Given the description of an element on the screen output the (x, y) to click on. 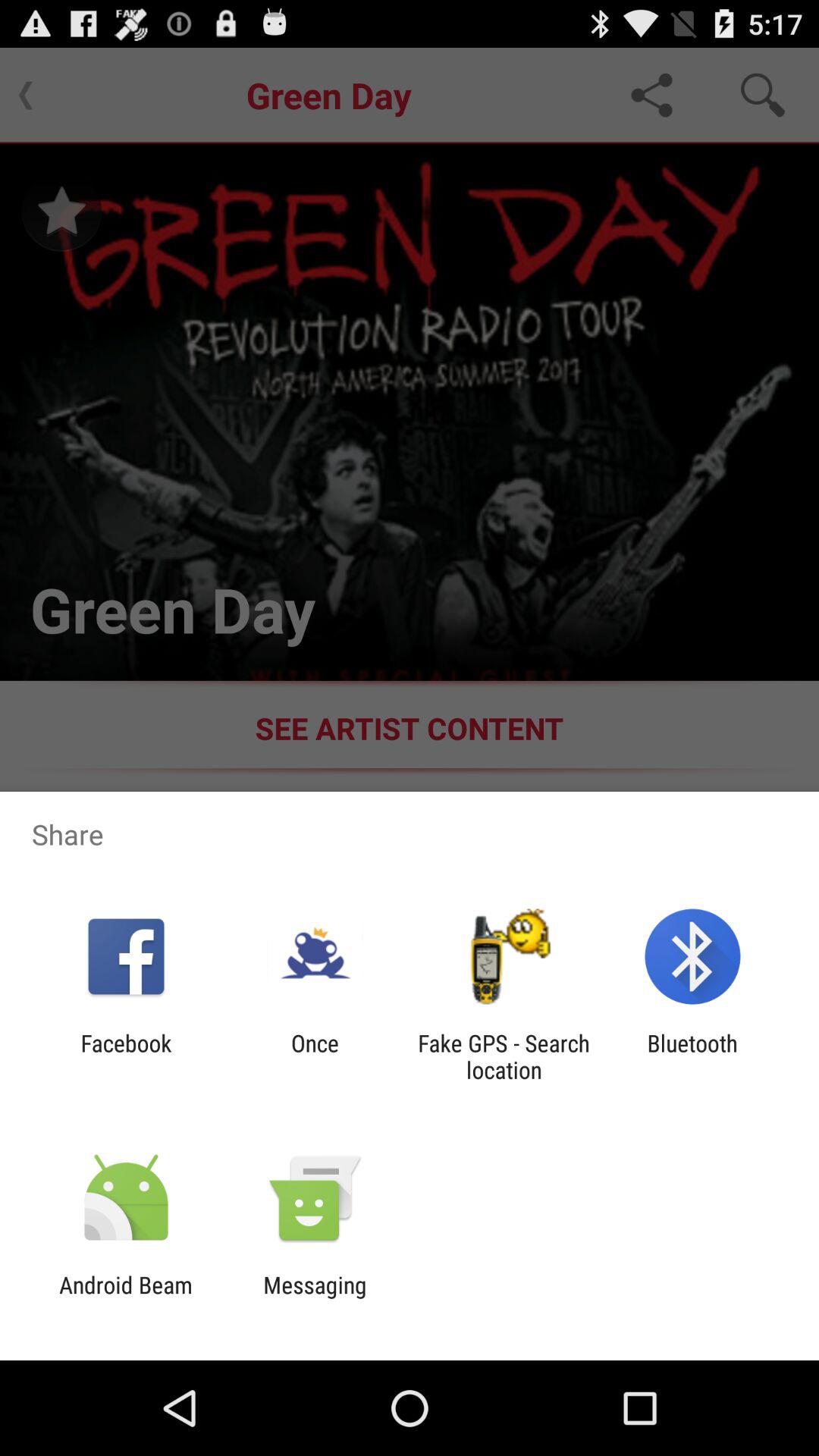
press the android beam app (125, 1298)
